Given the description of an element on the screen output the (x, y) to click on. 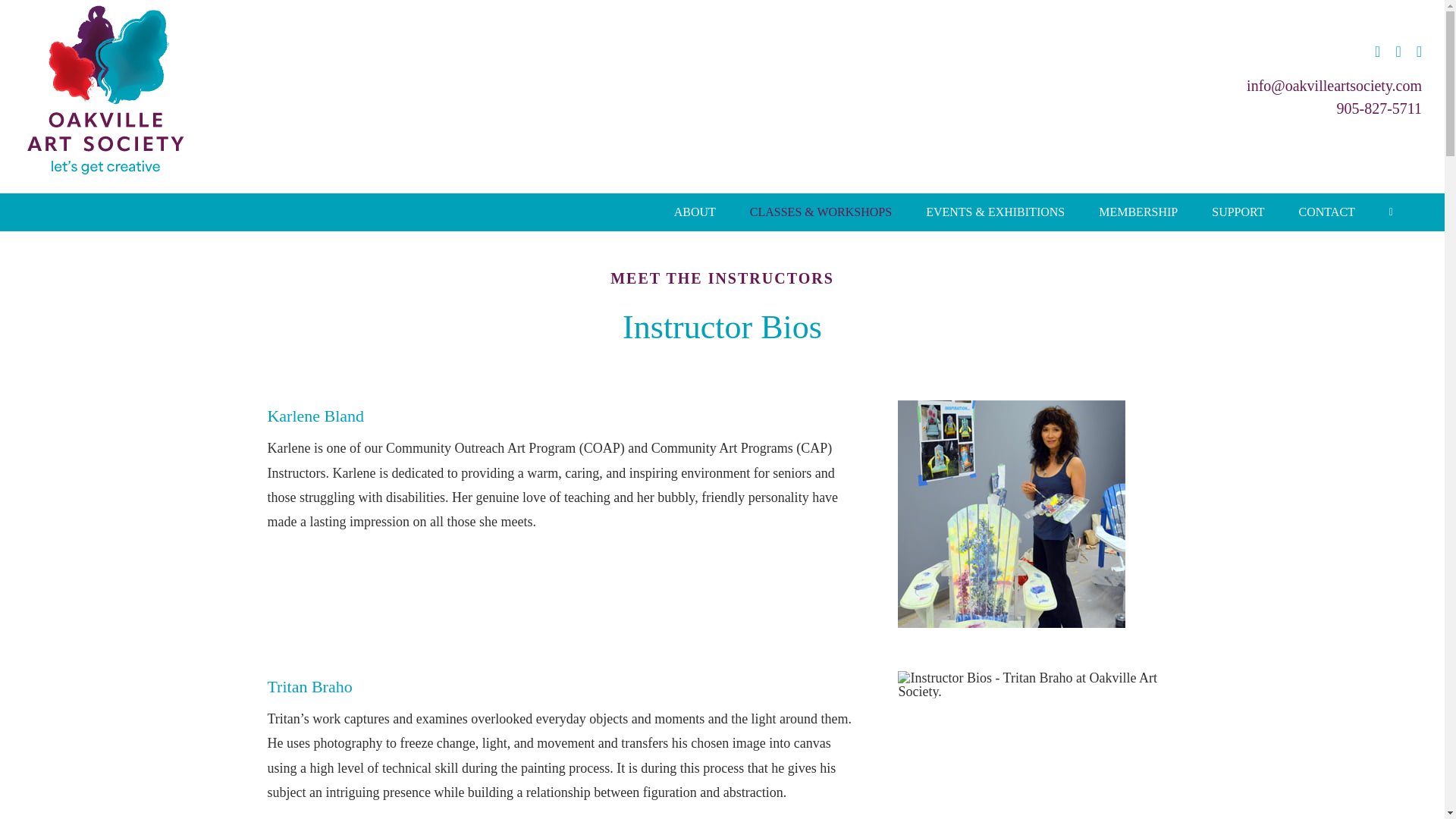
MEMBERSHIP (1138, 212)
905-827-5711 (1379, 108)
ABOUT (695, 212)
